Given the description of an element on the screen output the (x, y) to click on. 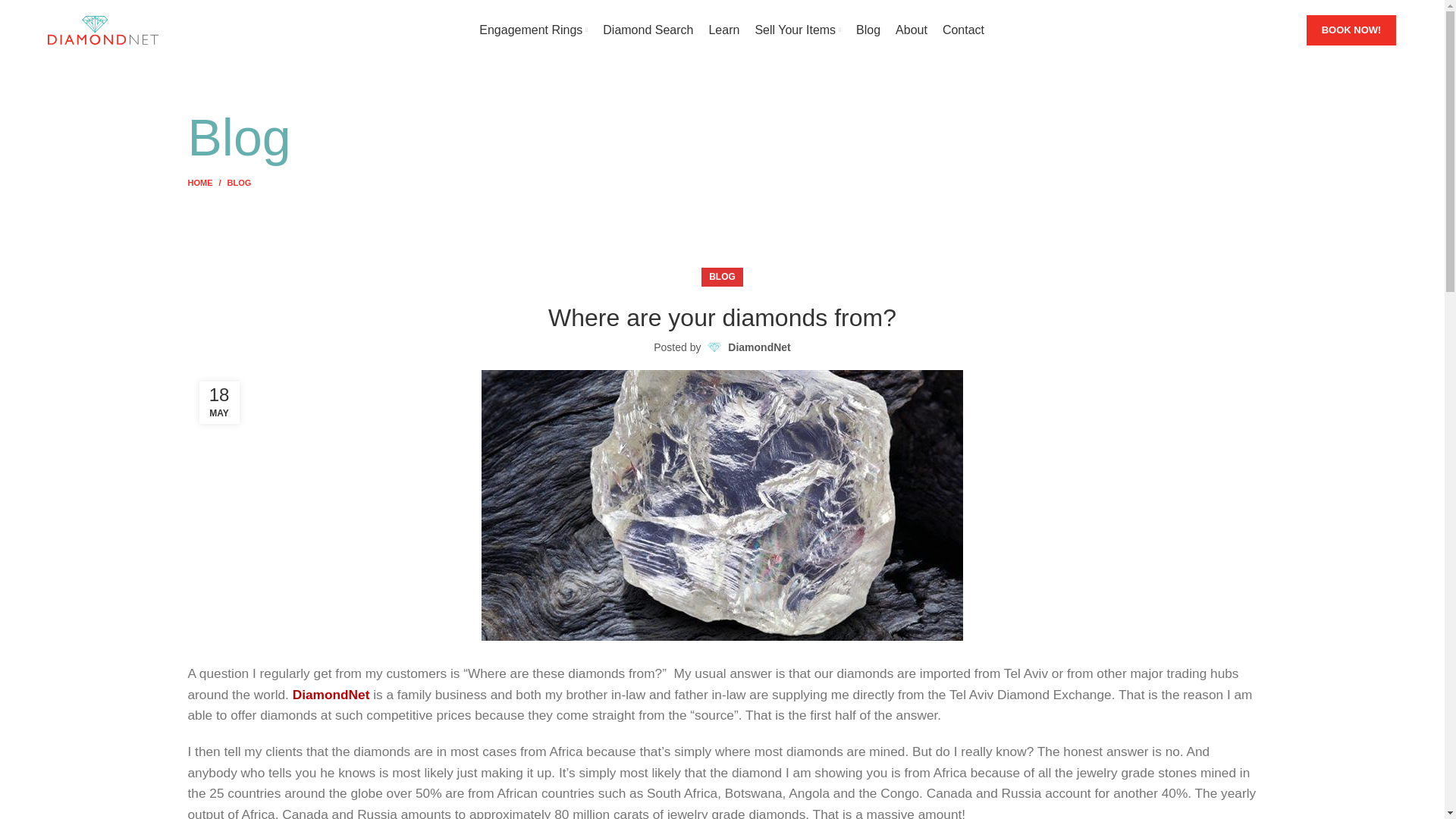
BOOK NOW! (1351, 29)
Learn (723, 30)
BLOG (722, 276)
DiamondNet (759, 346)
About (911, 30)
Sell Your Items (797, 30)
DiamondNet (330, 694)
Contact (963, 30)
BLOG (239, 182)
Engagement Rings (533, 30)
HOME (207, 182)
Diamond Search (647, 30)
